Given the description of an element on the screen output the (x, y) to click on. 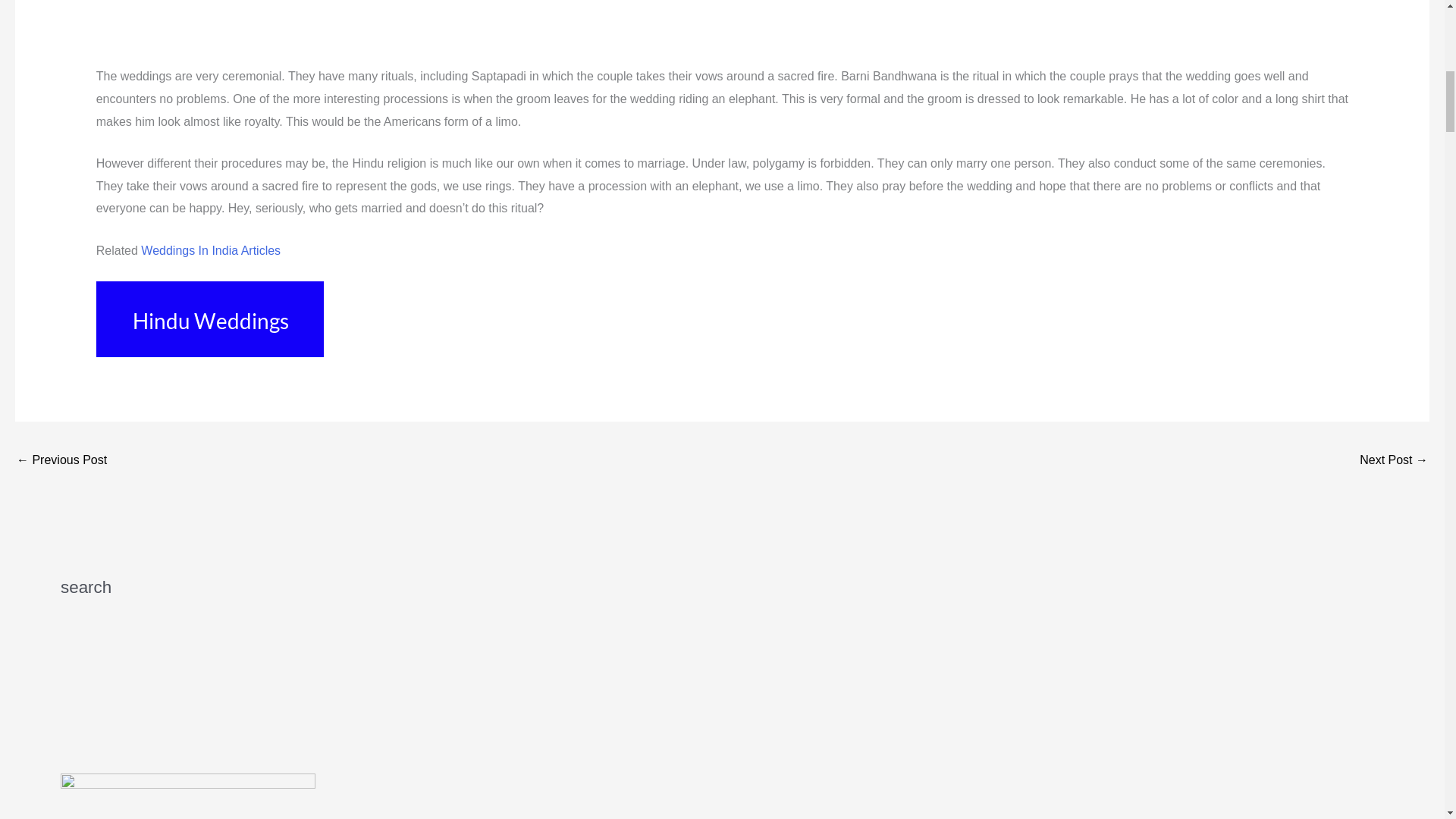
Political Robo Calling that works (1393, 461)
Advertisement (721, 32)
California Home Inspector (61, 461)
Hindu Weddings (209, 319)
